Given the description of an element on the screen output the (x, y) to click on. 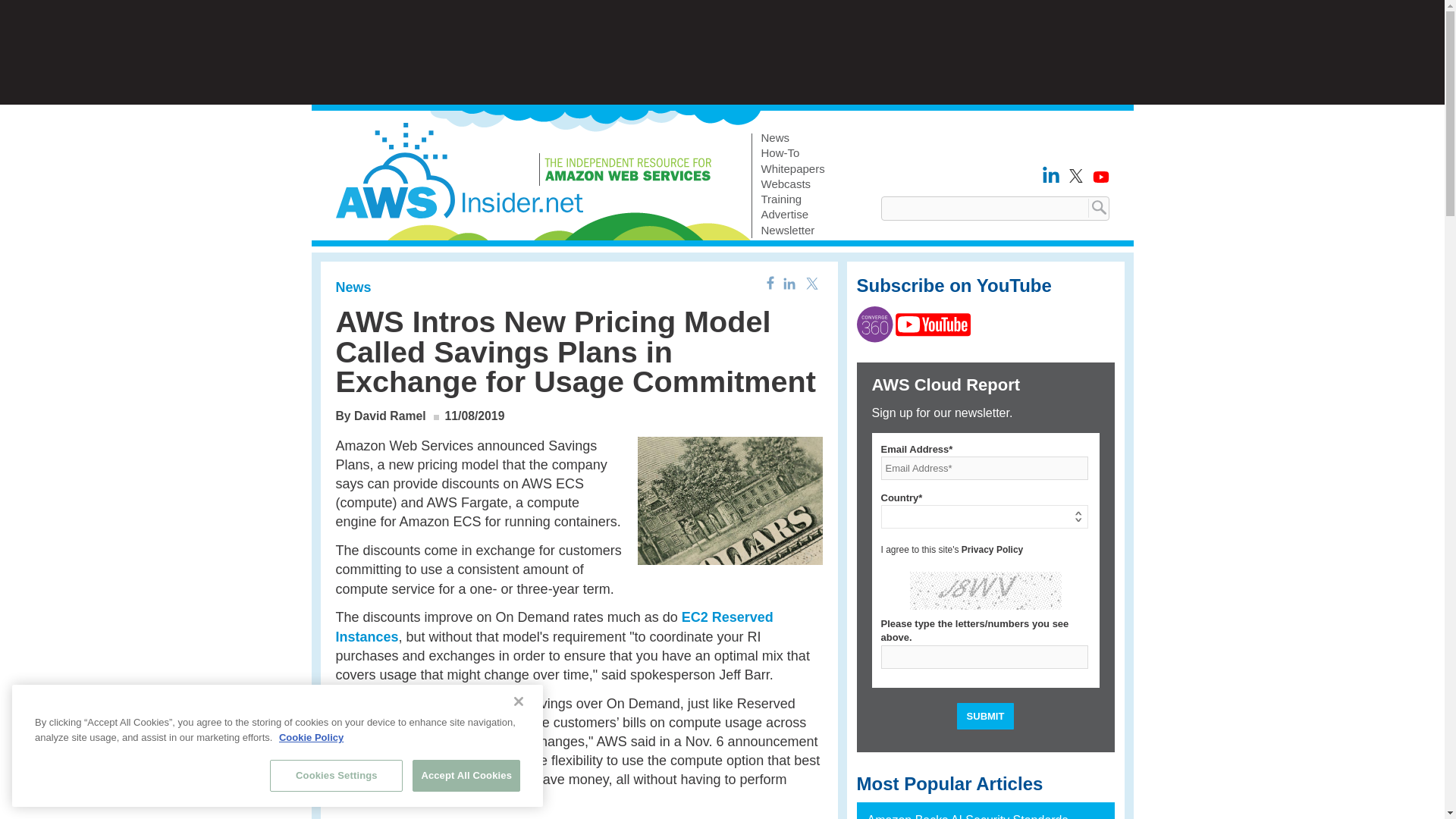
David Ramel (389, 415)
Training (793, 199)
Most Popular Articles (950, 783)
post (349, 760)
Advertise (793, 214)
News (352, 287)
EC2 Reserved Instances (553, 626)
Whitepapers (793, 168)
Webcasts (793, 184)
Search (1096, 207)
How-To (793, 153)
Privacy Policy (991, 549)
3rd party ad content (721, 52)
Submit (985, 715)
Search (1096, 207)
